Given the description of an element on the screen output the (x, y) to click on. 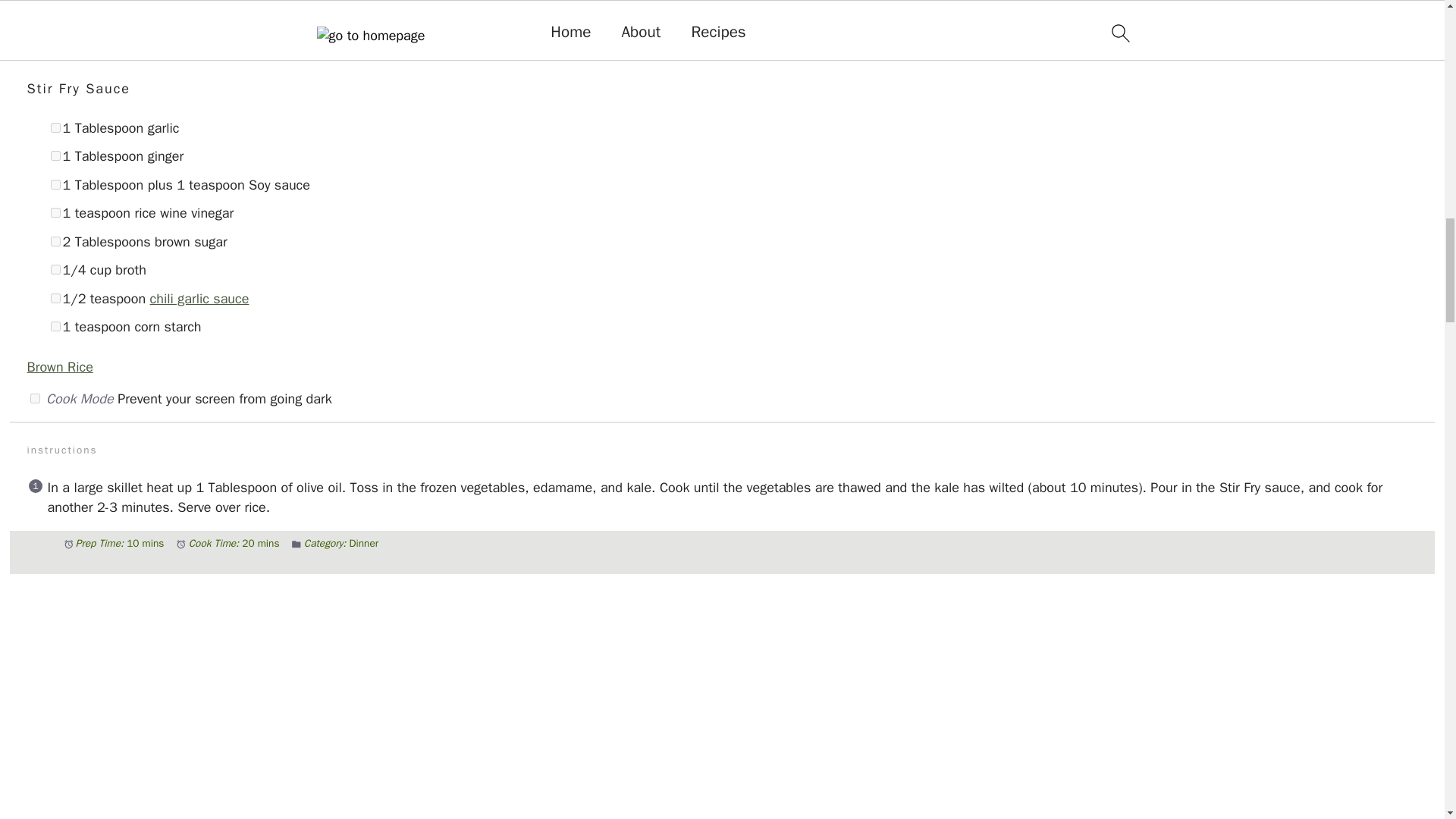
on (54, 127)
on (54, 155)
on (54, 298)
on (54, 49)
on (54, 241)
on (54, 269)
on (54, 326)
on (54, 20)
on (35, 398)
on (54, 212)
on (54, 184)
